Given the description of an element on the screen output the (x, y) to click on. 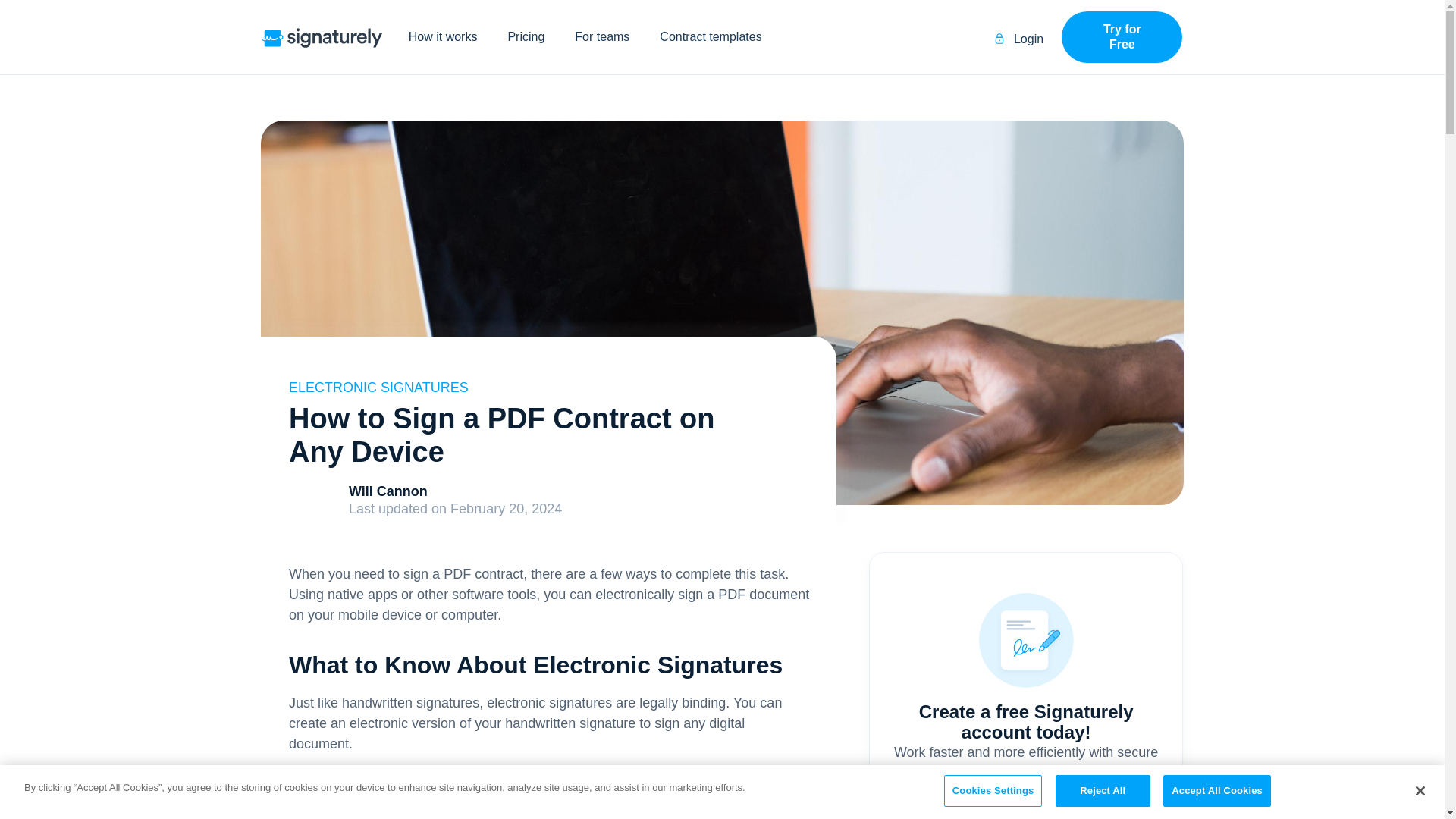
For teams (602, 36)
Try for Free (1121, 37)
Contract templates (710, 36)
How it works (443, 36)
Login (1018, 38)
Pricing (525, 36)
